Given the description of an element on the screen output the (x, y) to click on. 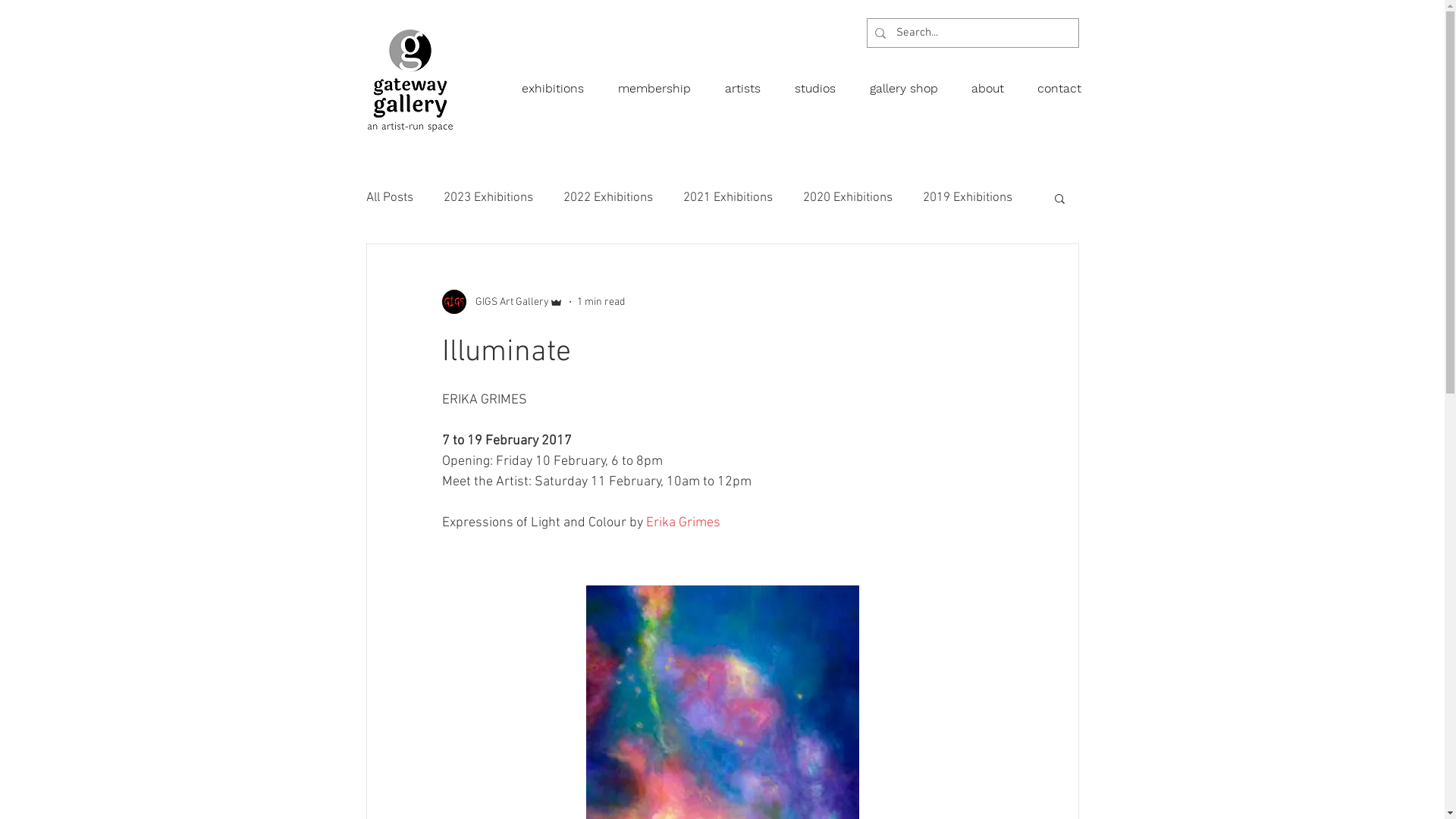
Erika Grimes Element type: text (683, 522)
2019 Exhibitions Element type: text (966, 197)
studios Element type: text (818, 81)
All Posts Element type: text (388, 197)
2022 Exhibitions Element type: text (607, 197)
2021 Exhibitions Element type: text (726, 197)
contact Element type: text (1062, 81)
gallery shop Element type: text (906, 81)
artists Element type: text (746, 81)
exhibitions Element type: text (556, 81)
2020 Exhibitions Element type: text (846, 197)
about Element type: text (989, 81)
membership Element type: text (656, 81)
2023 Exhibitions Element type: text (487, 197)
